Given the description of an element on the screen output the (x, y) to click on. 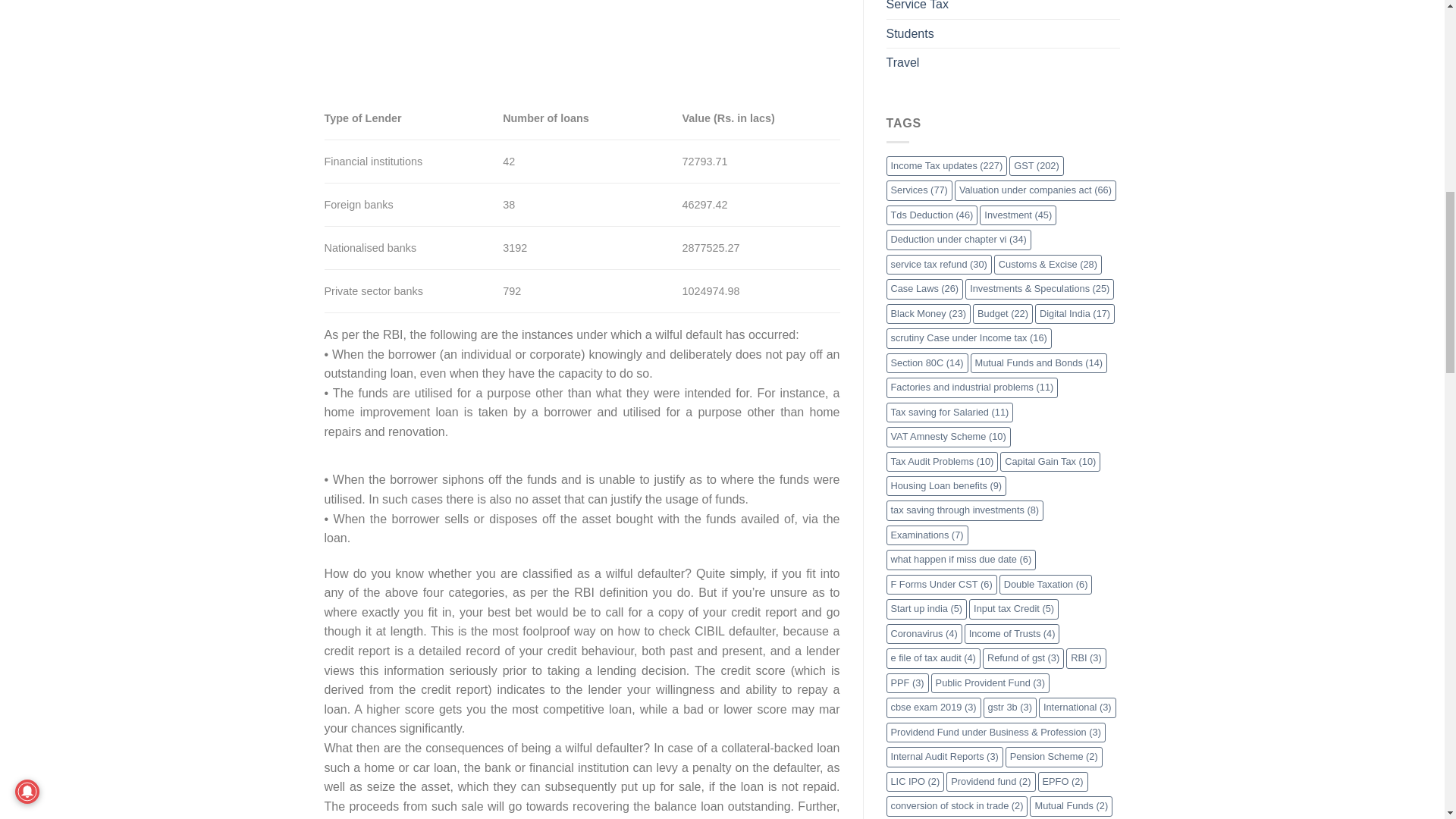
Advertisement (582, 31)
